Given the description of an element on the screen output the (x, y) to click on. 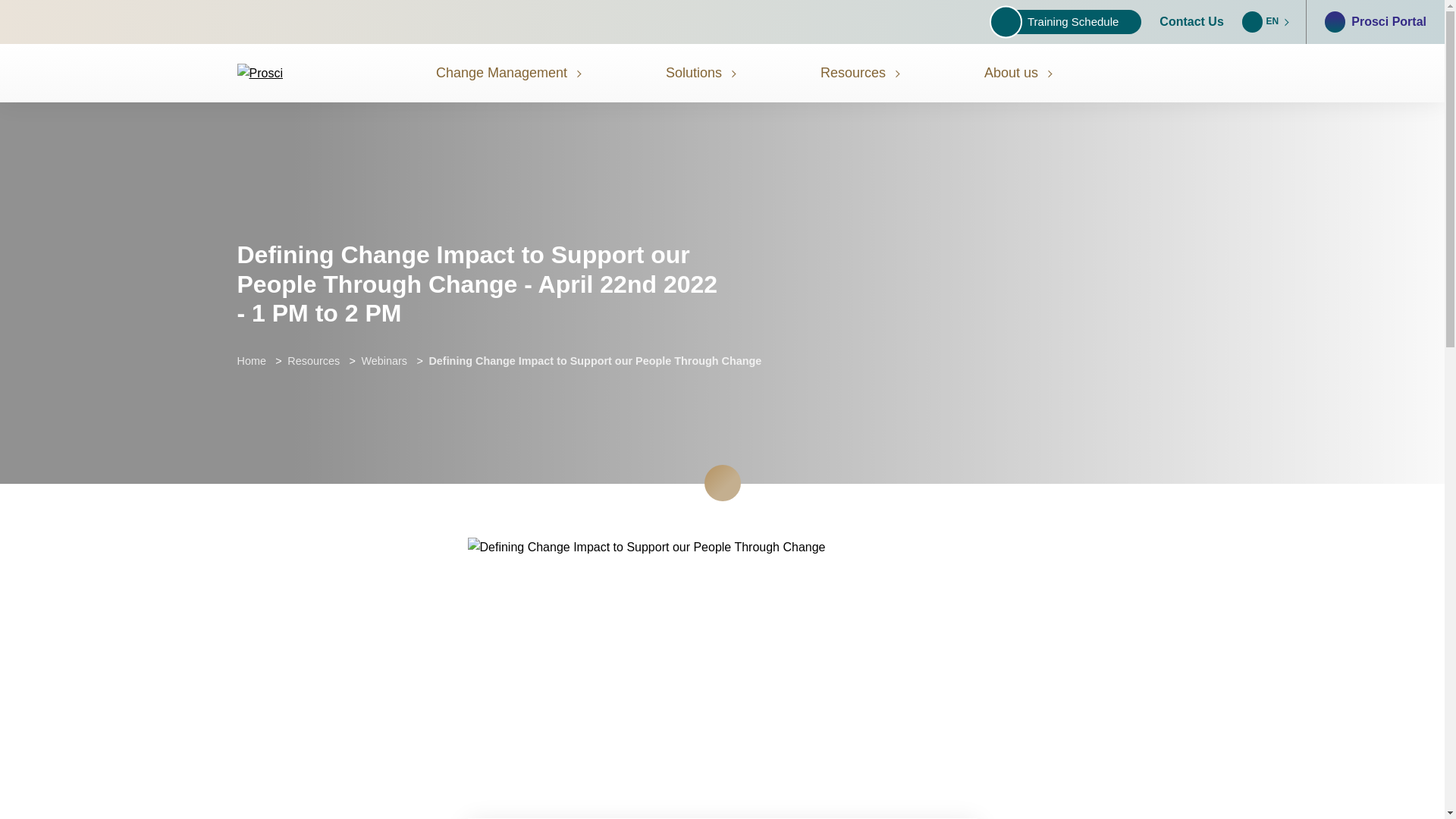
Training Schedule (1069, 21)
Webinars (384, 360)
About us (1018, 73)
Change Management (508, 73)
Resources (312, 360)
Solutions (700, 73)
Home (249, 360)
Resources (861, 73)
Defining Change Impact to Support our People Through Change (594, 360)
Contact Us (1190, 22)
